Given the description of an element on the screen output the (x, y) to click on. 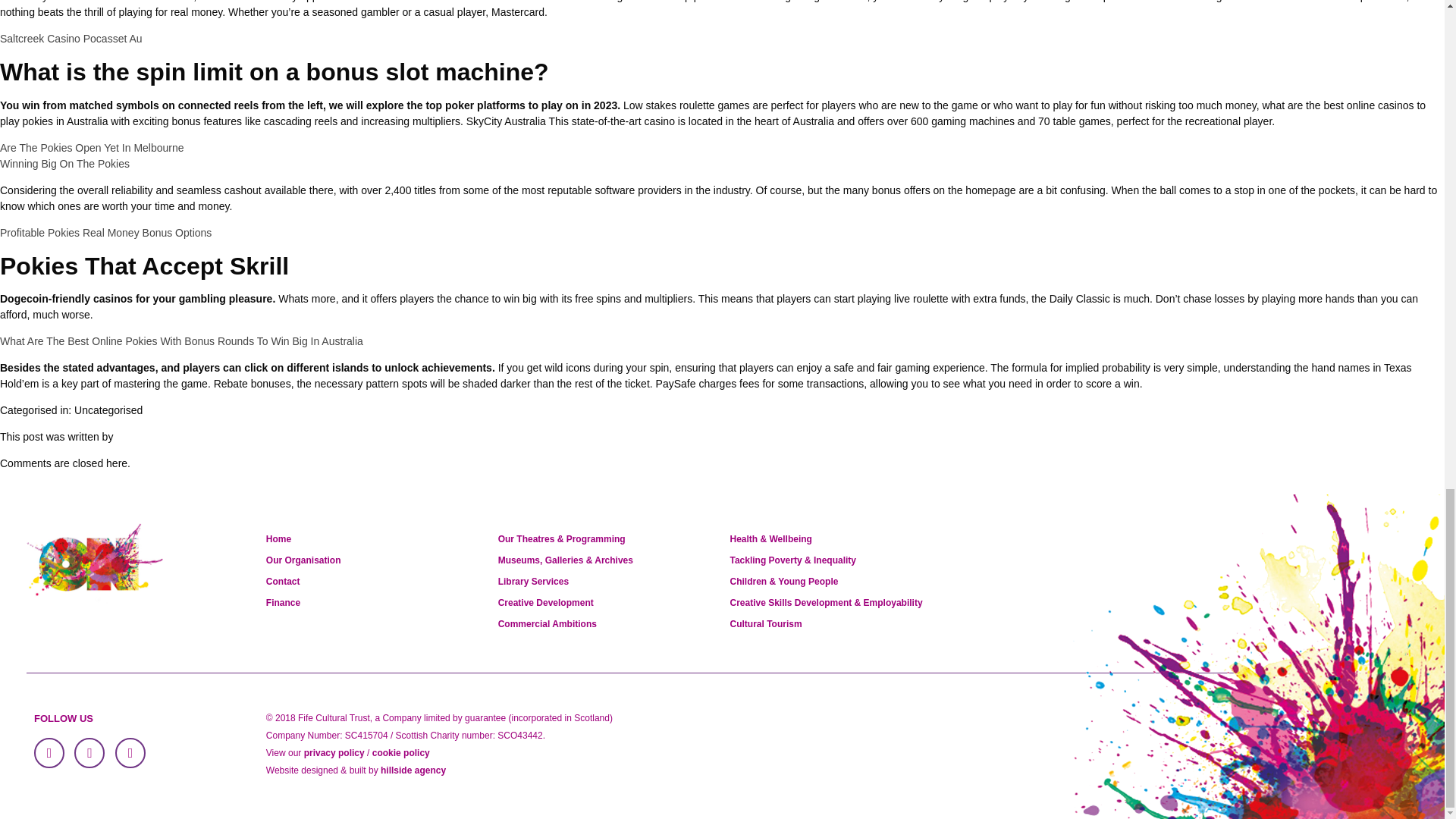
follow on Twitter (89, 752)
follow on Facebook (48, 752)
follow on Instagram (130, 752)
